Given the description of an element on the screen output the (x, y) to click on. 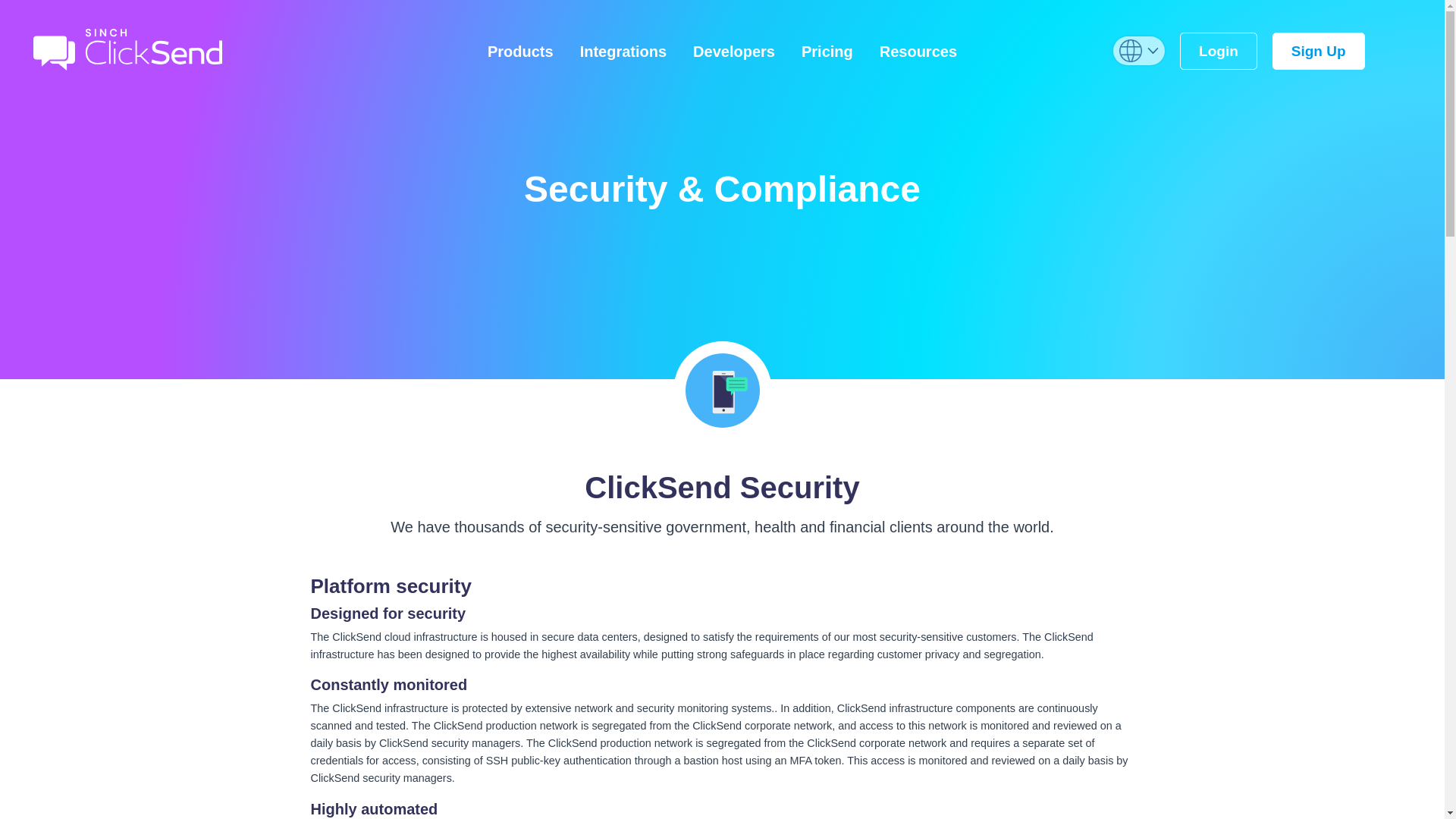
Resources (917, 48)
Integrations (622, 48)
Pricing (826, 48)
Products (520, 48)
Developers (734, 48)
